Given the description of an element on the screen output the (x, y) to click on. 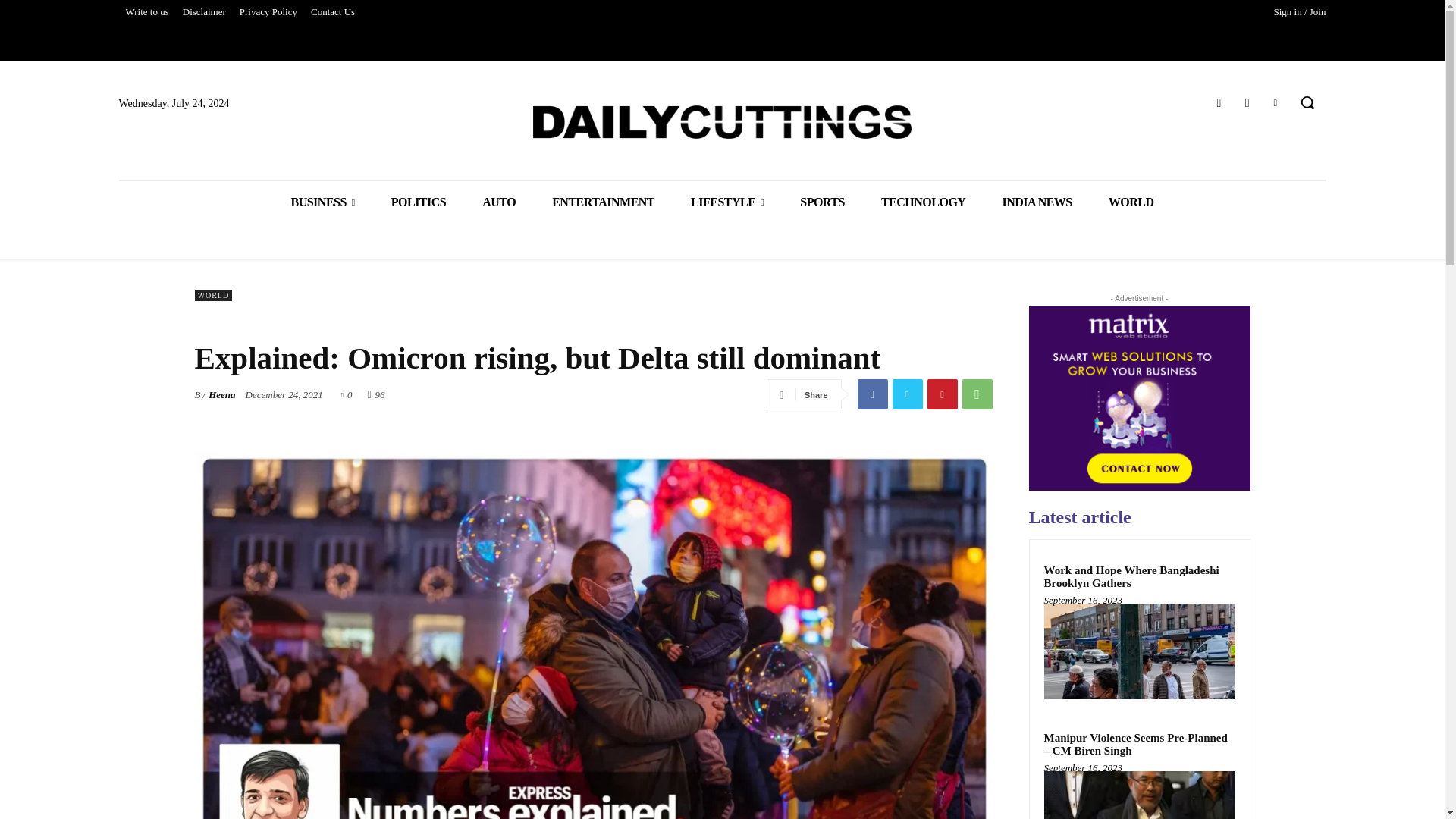
Instagram (1246, 102)
Disclaimer (204, 12)
Privacy Policy (268, 12)
Twitter (1275, 102)
WhatsApp (975, 394)
Twitter (906, 394)
Write to us (145, 12)
Facebook (871, 394)
Pinterest (941, 394)
Facebook (1218, 102)
Contact Us (332, 12)
